Given the description of an element on the screen output the (x, y) to click on. 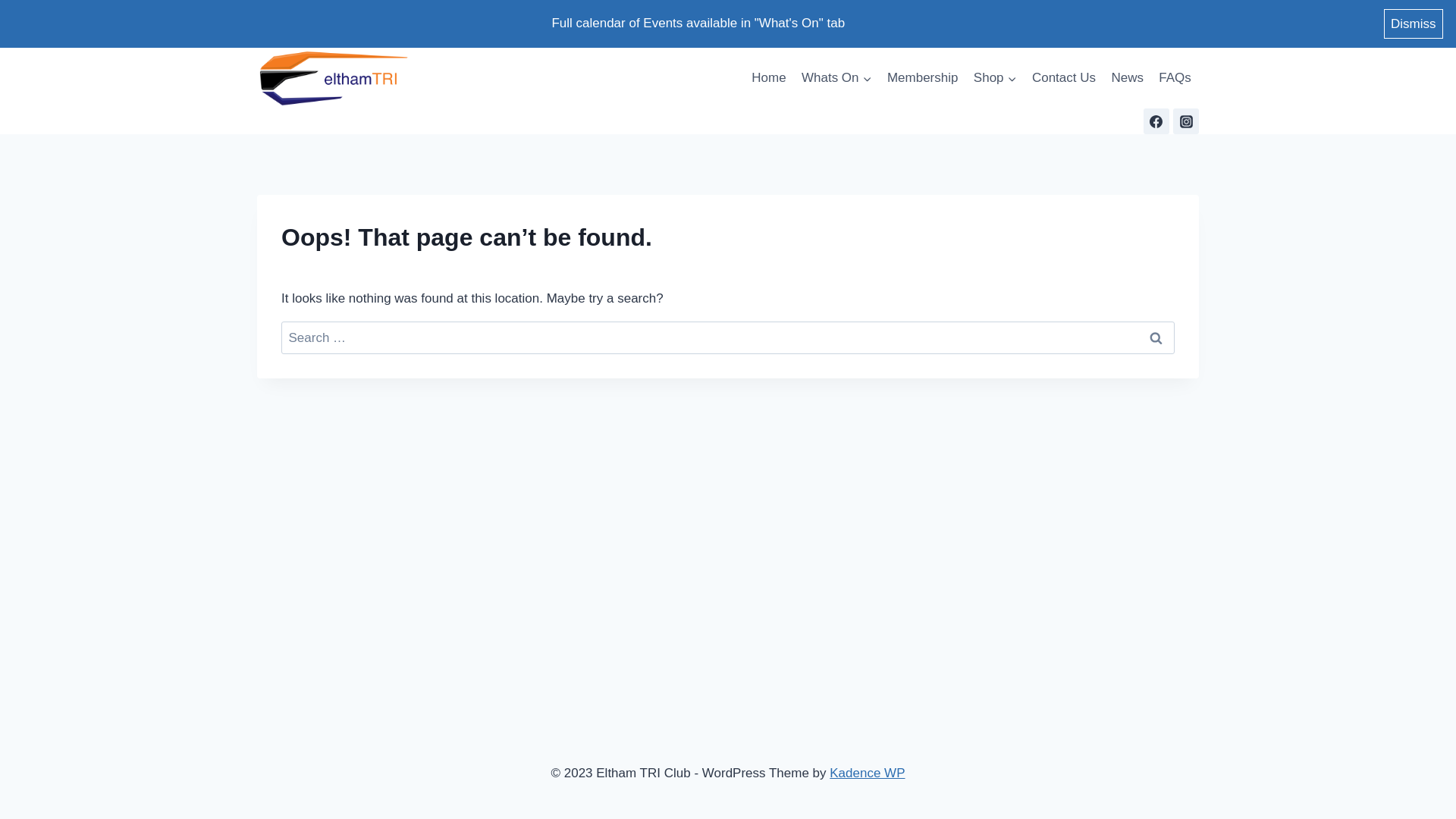
Contact Us Element type: text (1063, 77)
Kadence WP Element type: text (866, 772)
Home Element type: text (768, 77)
News Element type: text (1127, 77)
Whats On Element type: text (836, 77)
FAQs Element type: text (1174, 77)
Shop Element type: text (995, 77)
Dismiss Element type: text (1413, 23)
Search Element type: text (1155, 337)
Membership Element type: text (922, 77)
